Given the description of an element on the screen output the (x, y) to click on. 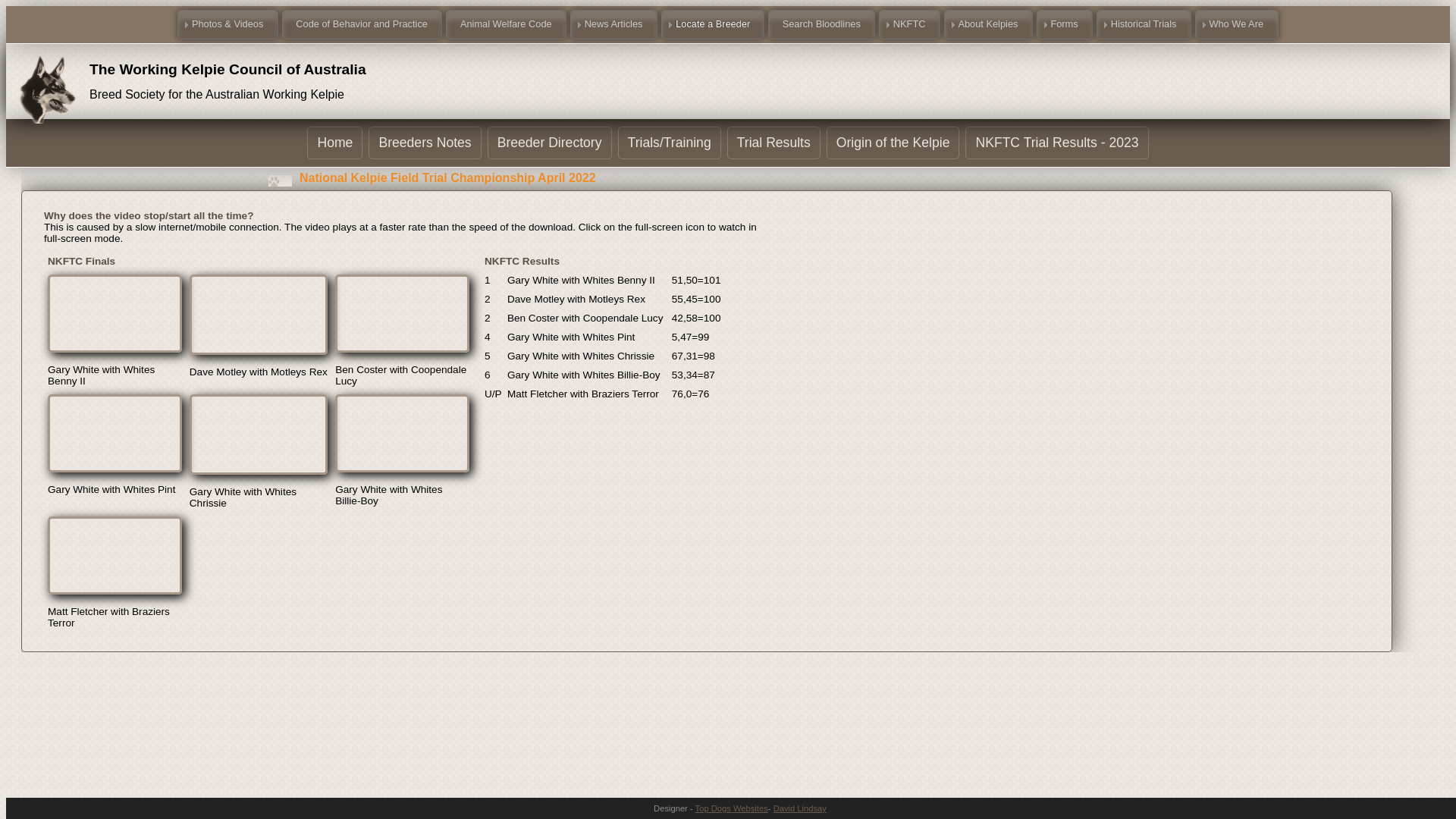
Animal Welfare Code Element type: text (505, 24)
Home Element type: text (334, 142)
Historical Trials Element type: text (1143, 24)
Breeder Directory Element type: text (549, 142)
Top Dogs Websites Element type: text (731, 807)
About Kelpies Element type: text (988, 24)
News Articles Element type: text (613, 24)
Who We Are Element type: text (1236, 24)
Breeders Notes Element type: text (424, 142)
Code of Behavior and Practice Element type: text (362, 24)
Trial Results Element type: text (773, 142)
Search Bloodlines Element type: text (821, 24)
Origin of the Kelpie Element type: text (893, 142)
David Lindsay Element type: text (799, 807)
Photos & Videos Element type: text (227, 24)
NKFTC Trial Results - 2023 Element type: text (1056, 142)
Forms Element type: text (1064, 24)
NKFTC Element type: text (909, 24)
Locate a Breeder Element type: text (712, 24)
Trials/Training Element type: text (669, 142)
